Given the description of an element on the screen output the (x, y) to click on. 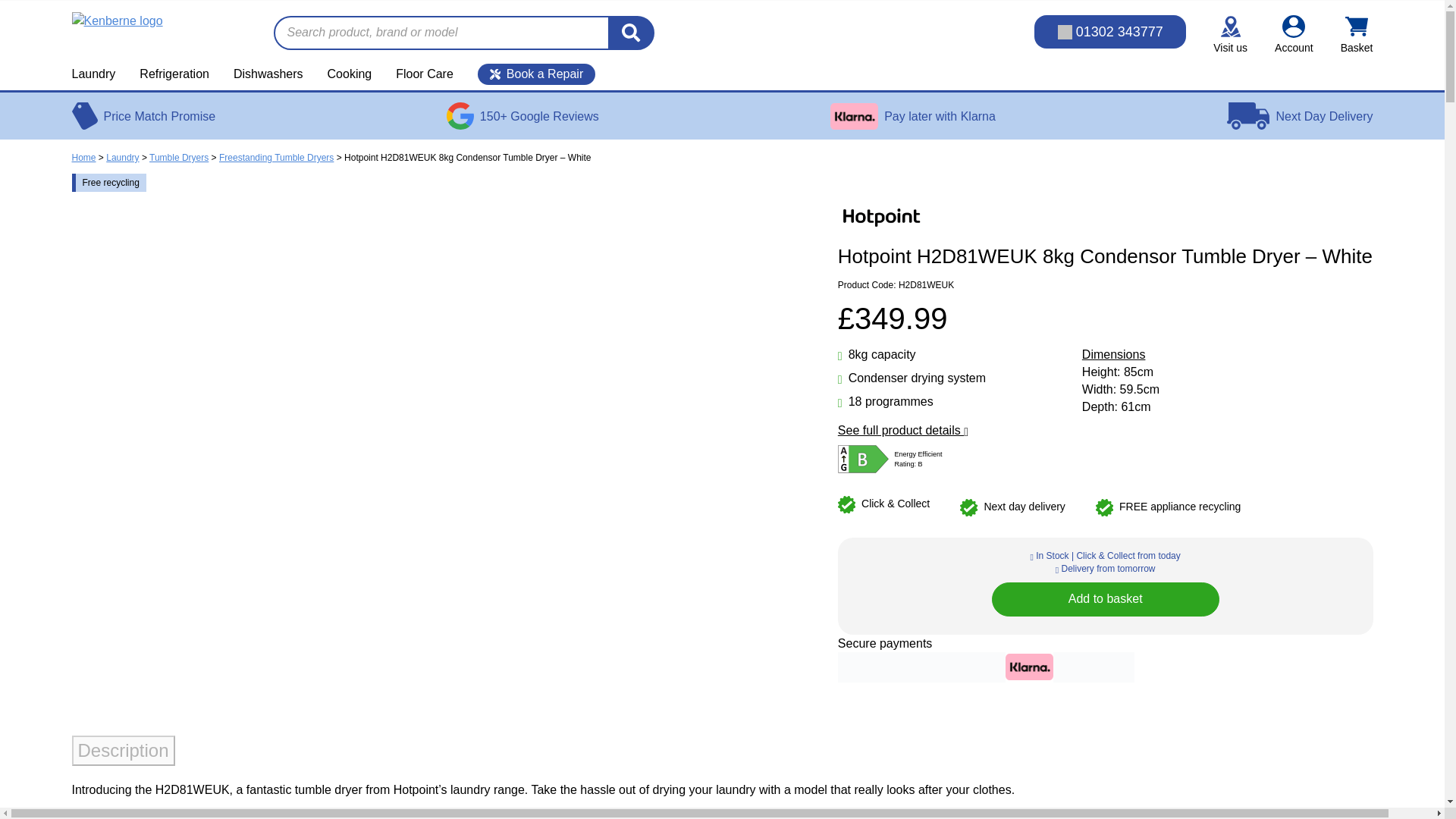
Laundry (99, 73)
My account (1294, 35)
01302 343777 (1109, 31)
Laundry (99, 73)
Account (1294, 35)
Dishwashers (268, 73)
Refrigeration (174, 73)
